Given the description of an element on the screen output the (x, y) to click on. 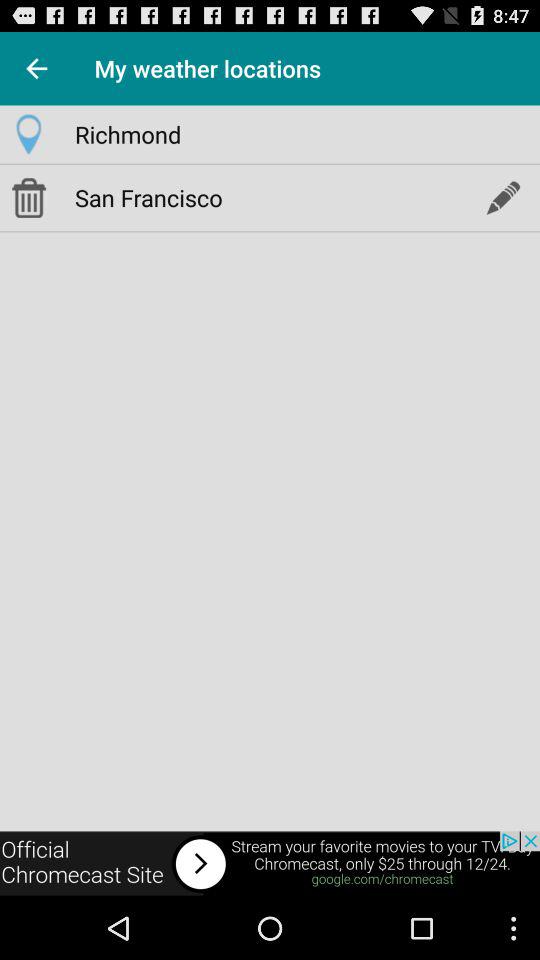
delete (28, 197)
